Given the description of an element on the screen output the (x, y) to click on. 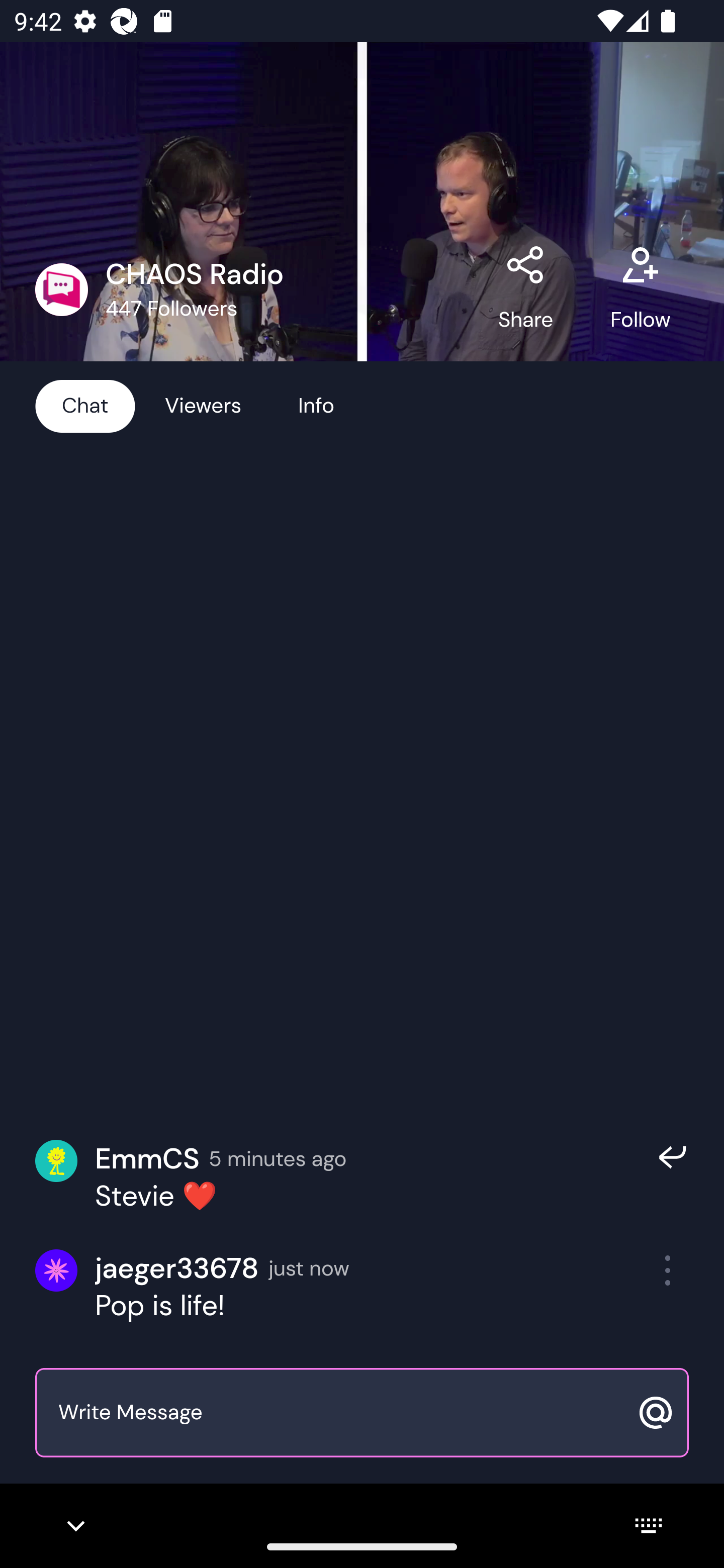
Share (525, 289)
Follow (640, 289)
Filter by button GENRES (198, 288)
Chat (84, 404)
Viewers (203, 404)
Info (316, 404)
EmmCS (146, 1158)
jaeger33678 (176, 1268)
Write Message (340, 1413)
